Given the description of an element on the screen output the (x, y) to click on. 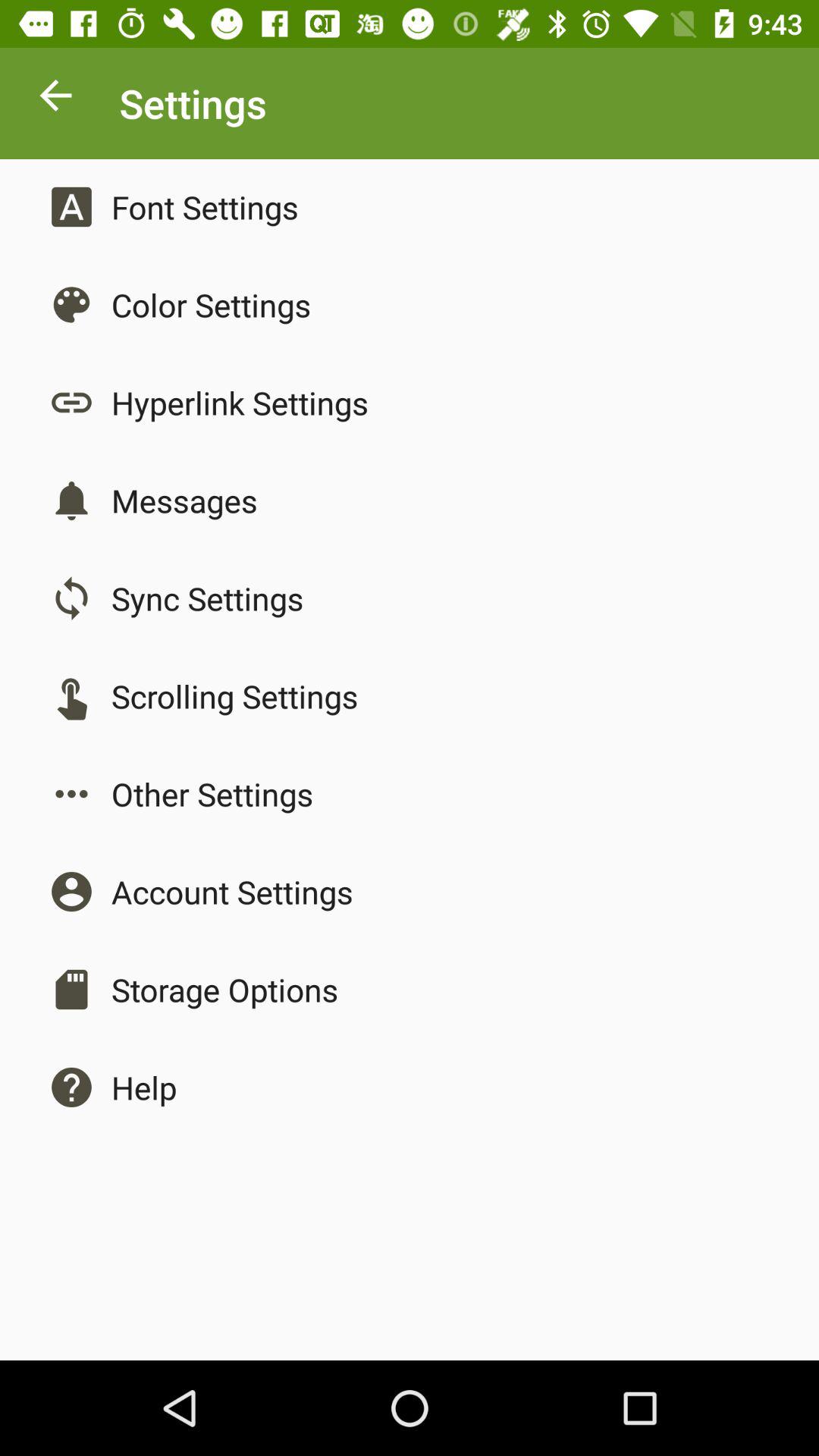
tap app above the sync settings app (184, 500)
